Given the description of an element on the screen output the (x, y) to click on. 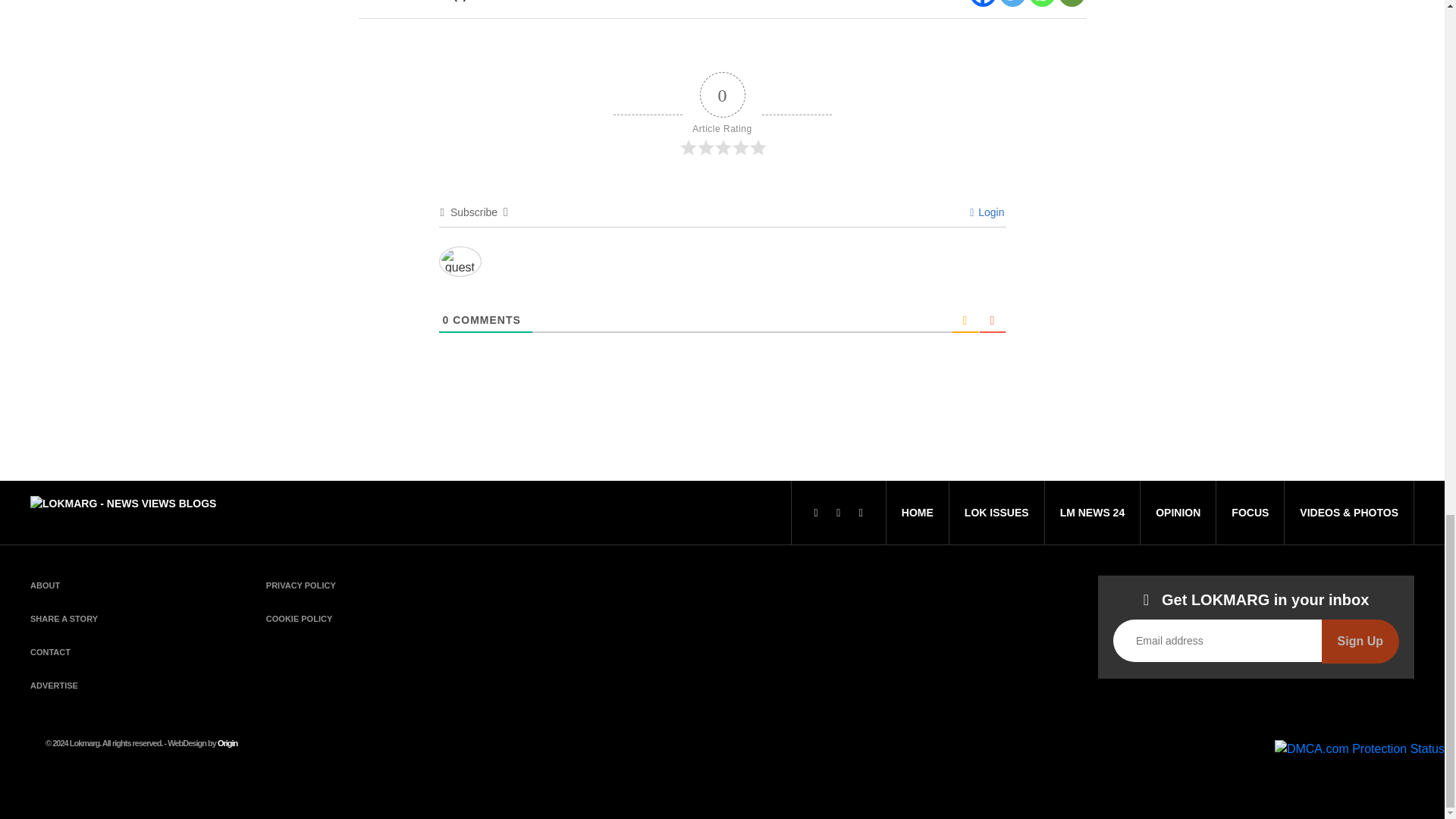
Login (986, 212)
Sign Up (1360, 641)
